Given the description of an element on the screen output the (x, y) to click on. 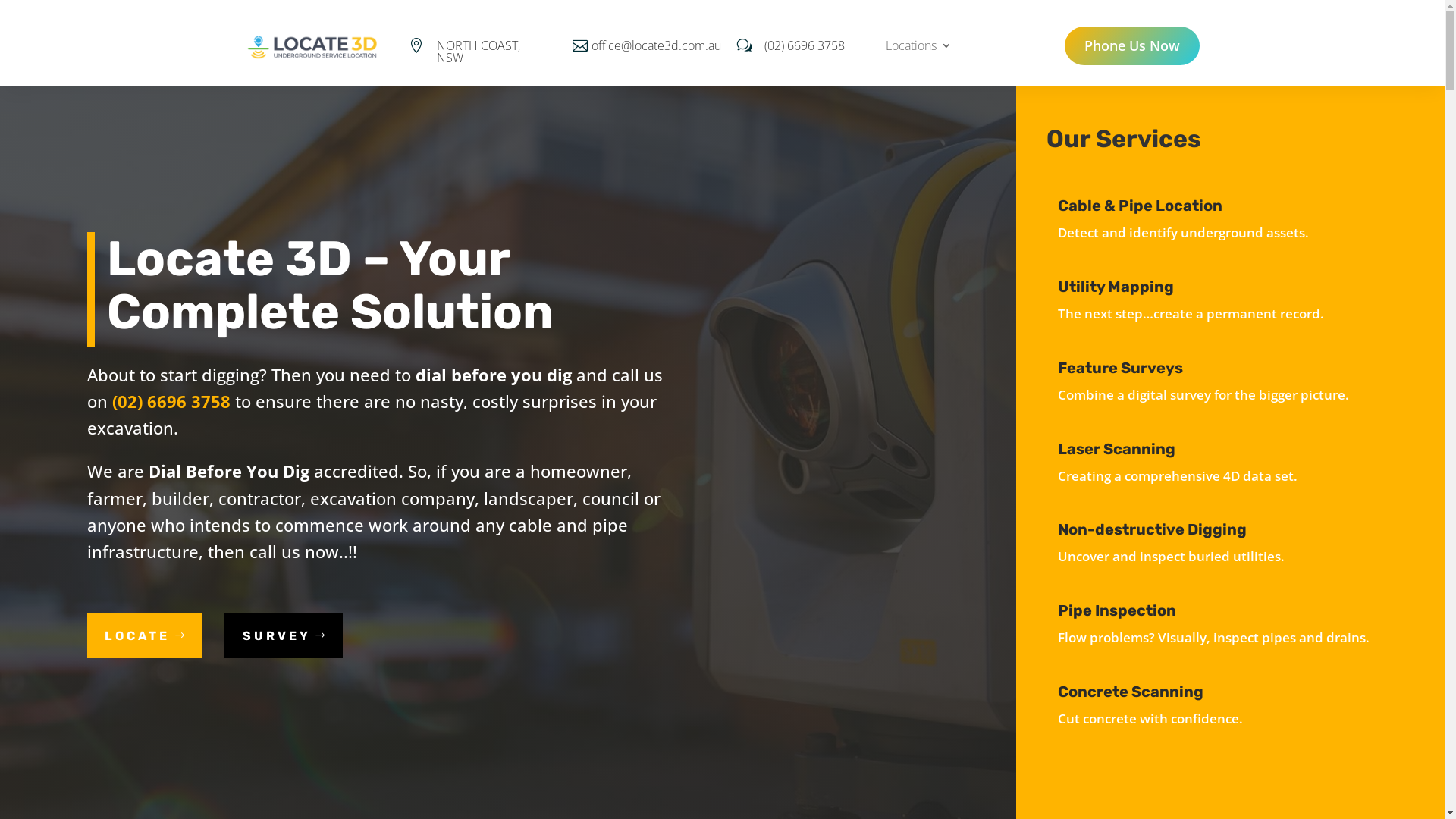
(02) 6696 3758 Element type: text (804, 45)
SURVEY Element type: text (283, 635)
LOCATE Element type: text (144, 635)
Pipe Inspection Element type: text (1116, 610)
l3d-logo Element type: hover (311, 46)
Feature Surveys Element type: text (1120, 367)
Non-destructive Digging Element type: text (1151, 529)
office@locate3d.com.au Element type: text (656, 45)
(02) 6696 3758 Element type: text (171, 400)
Locations Element type: text (918, 48)
Utility Mapping Element type: text (1115, 286)
w Element type: text (748, 45)
Concrete Scanning Element type: text (1130, 691)
Laser Scanning Element type: text (1116, 448)
Cable & Pipe Location Element type: text (1139, 205)
Phone Us Now Element type: text (1132, 45)
